Given the description of an element on the screen output the (x, y) to click on. 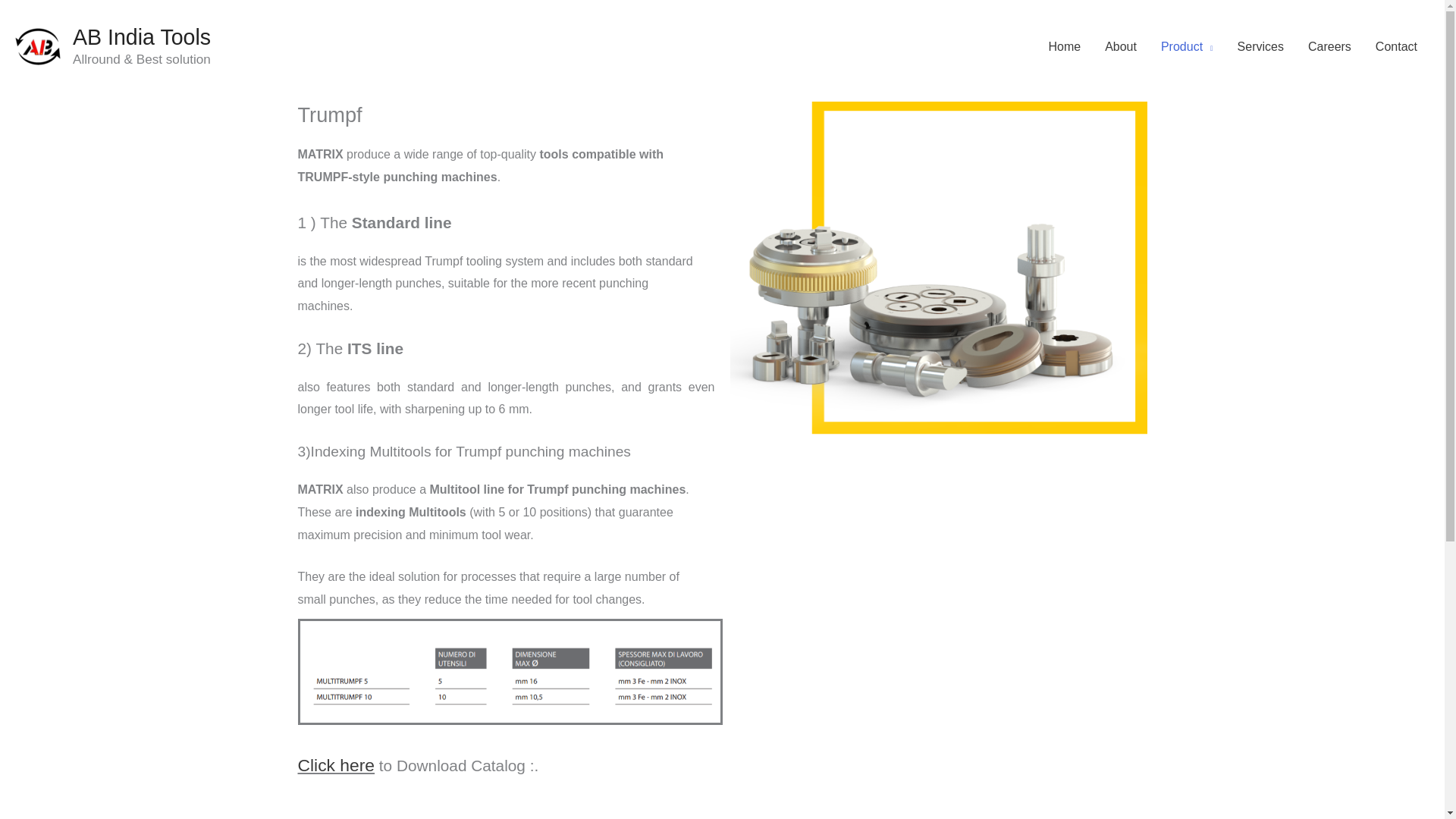
AB India Tools (141, 37)
Careers (1328, 46)
Contact (1395, 46)
Home (1064, 46)
Services (1260, 46)
About (1120, 46)
Product (1186, 46)
Click here (335, 764)
